Given the description of an element on the screen output the (x, y) to click on. 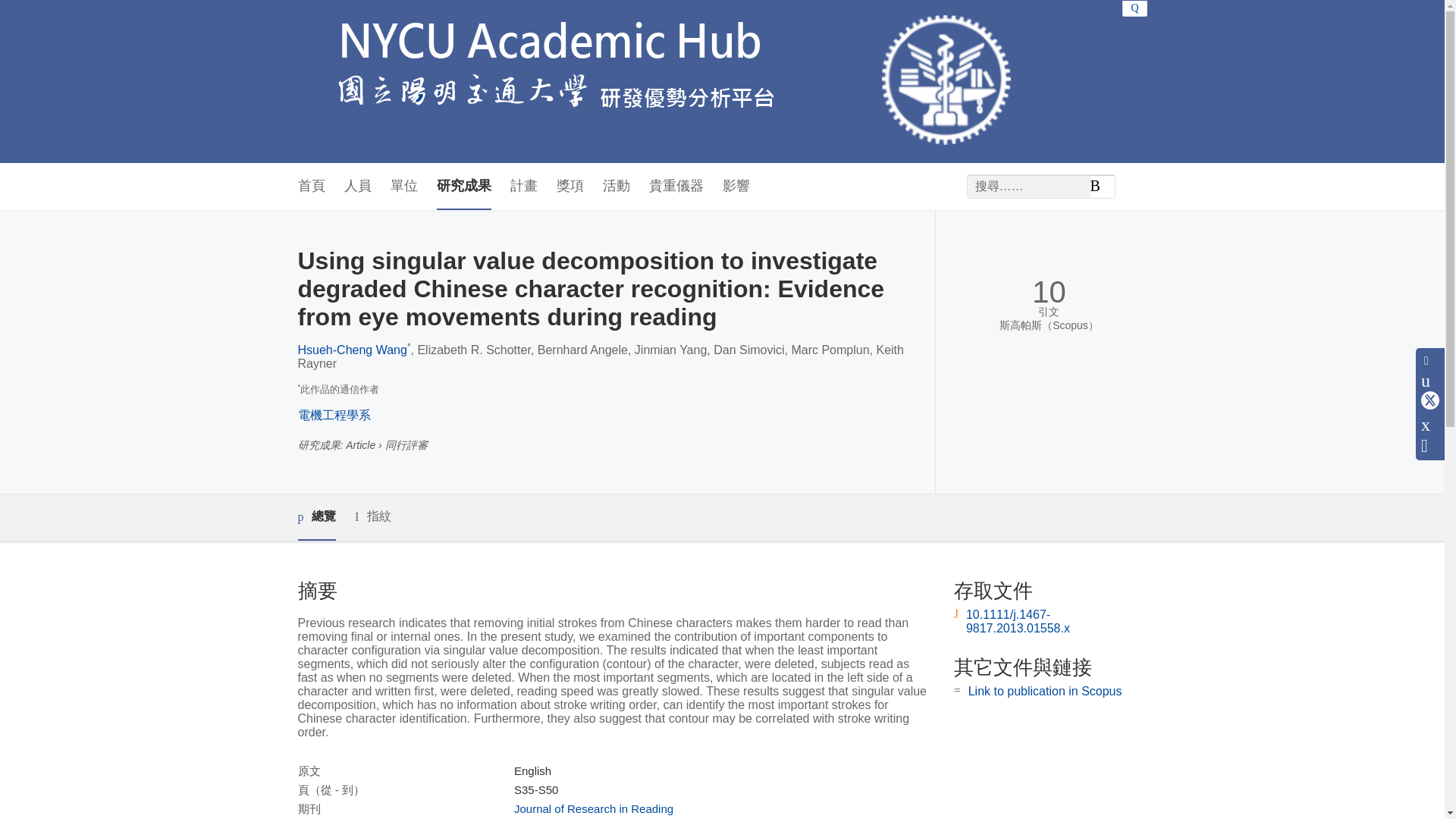
Hsueh-Cheng Wang (351, 349)
Journal of Research in Reading (592, 808)
Link to publication in Scopus (1045, 690)
